Given the description of an element on the screen output the (x, y) to click on. 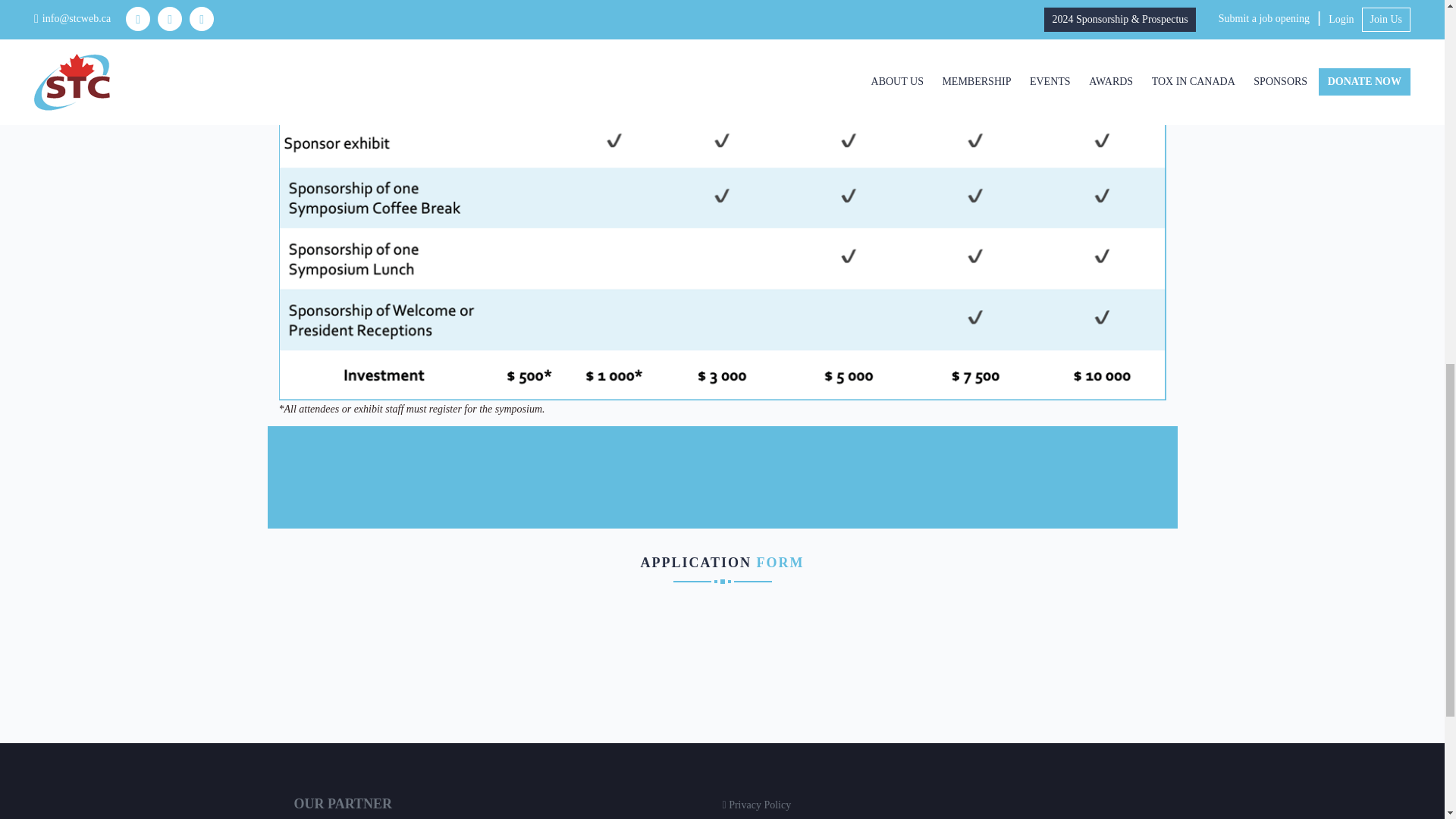
Privacy Policy (759, 804)
